Given the description of an element on the screen output the (x, y) to click on. 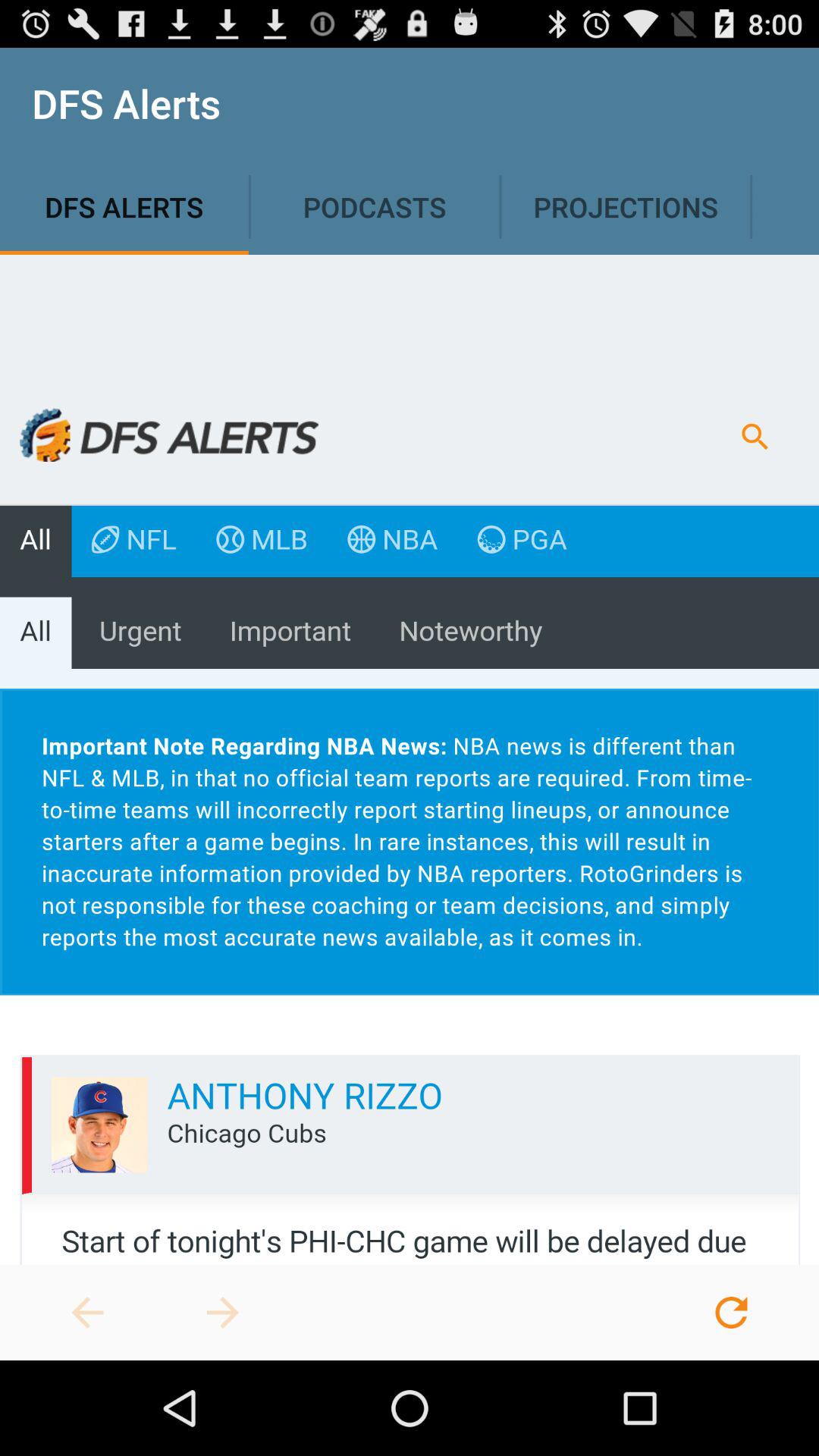
go back (87, 1312)
